Given the description of an element on the screen output the (x, y) to click on. 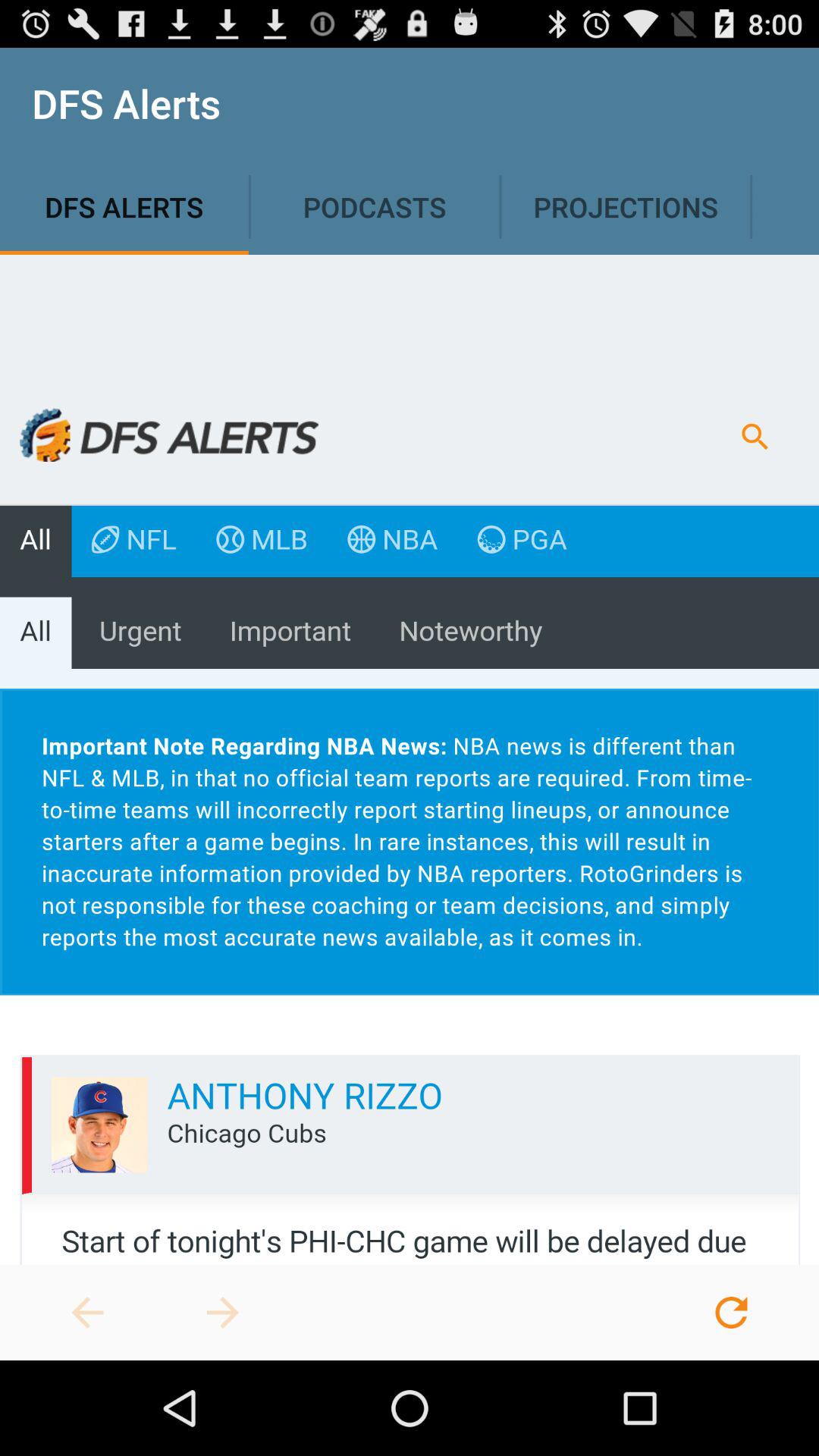
go back (87, 1312)
